Given the description of an element on the screen output the (x, y) to click on. 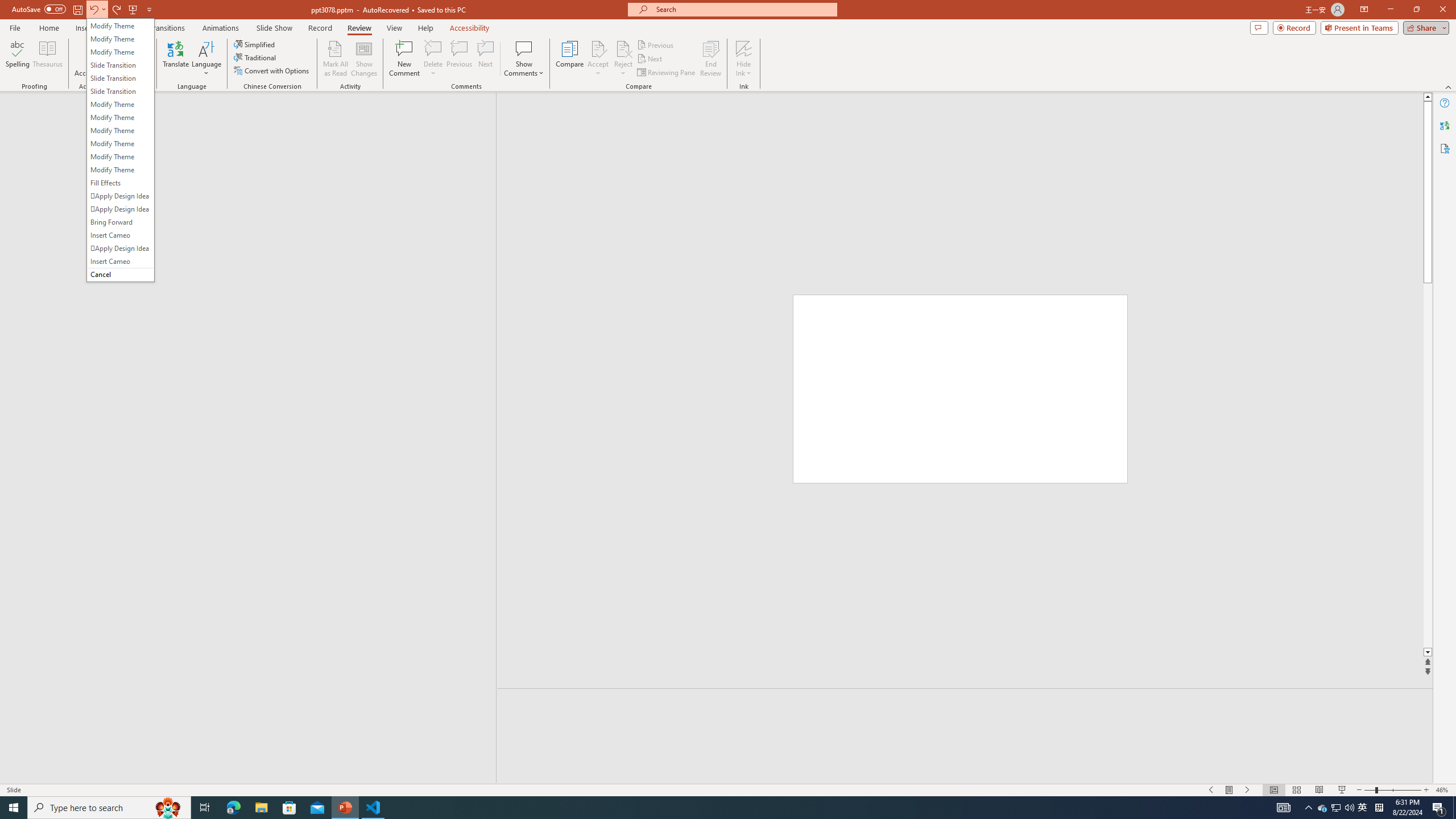
Page down (1427, 465)
Language (206, 58)
Mark All as Read (1322, 807)
Slide Notes (335, 58)
Show Comments (965, 705)
Delete (524, 58)
File Explorer (432, 48)
Reviewing Pane (261, 807)
